Given the description of an element on the screen output the (x, y) to click on. 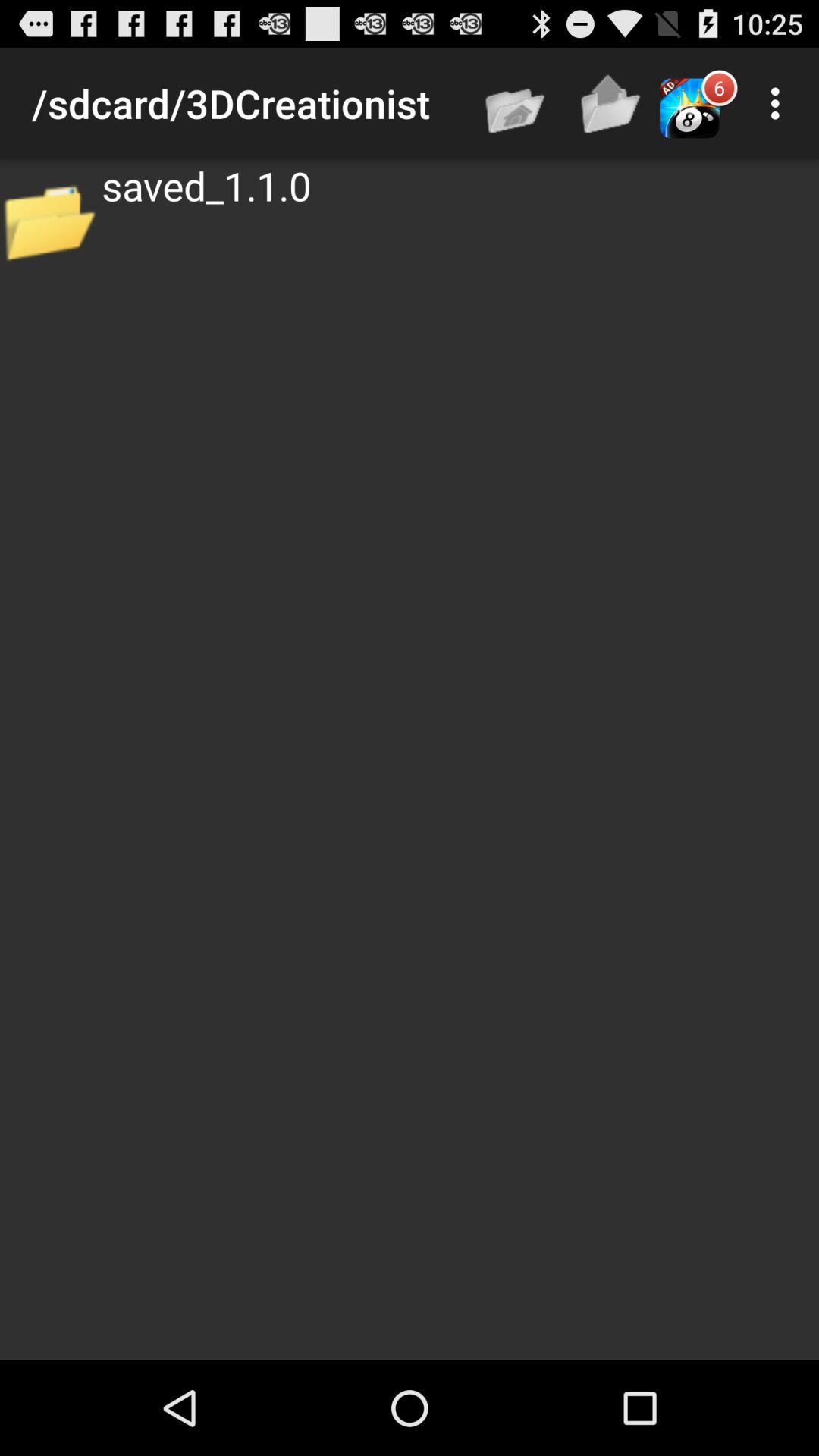
choose app to the right of the /sdcard/3dcreationist app (516, 103)
